Given the description of an element on the screen output the (x, y) to click on. 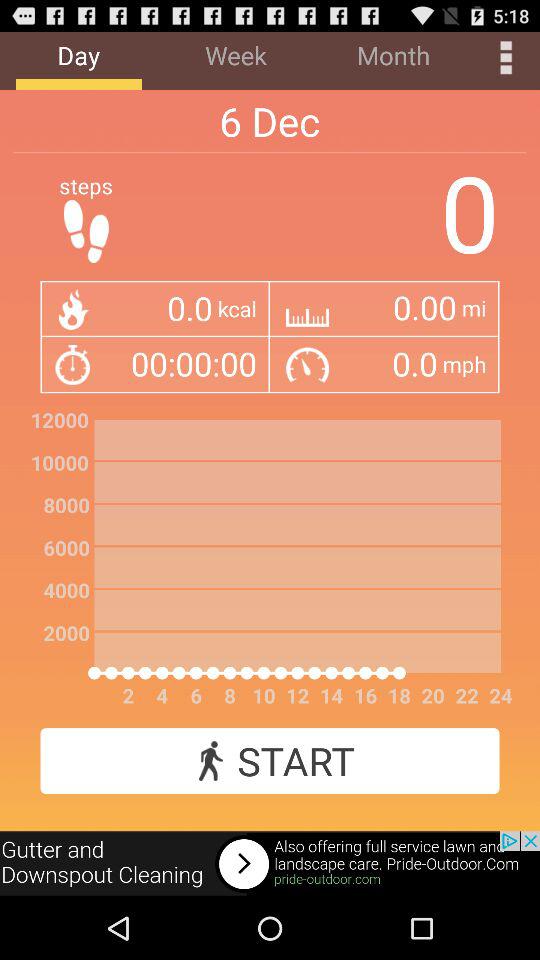
advertisement (270, 864)
